Given the description of an element on the screen output the (x, y) to click on. 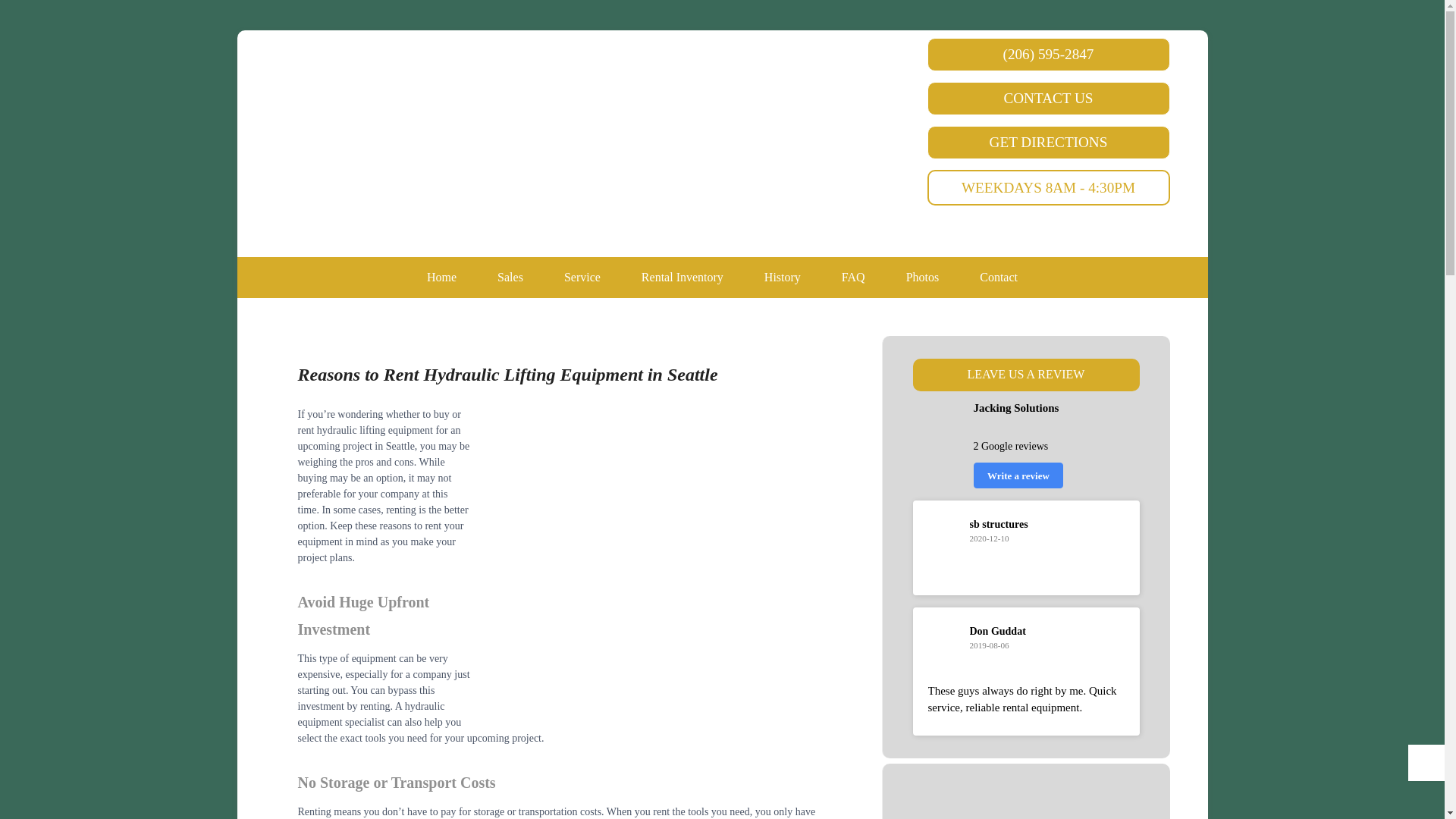
Jacking Solutions (744, 97)
